Given the description of an element on the screen output the (x, y) to click on. 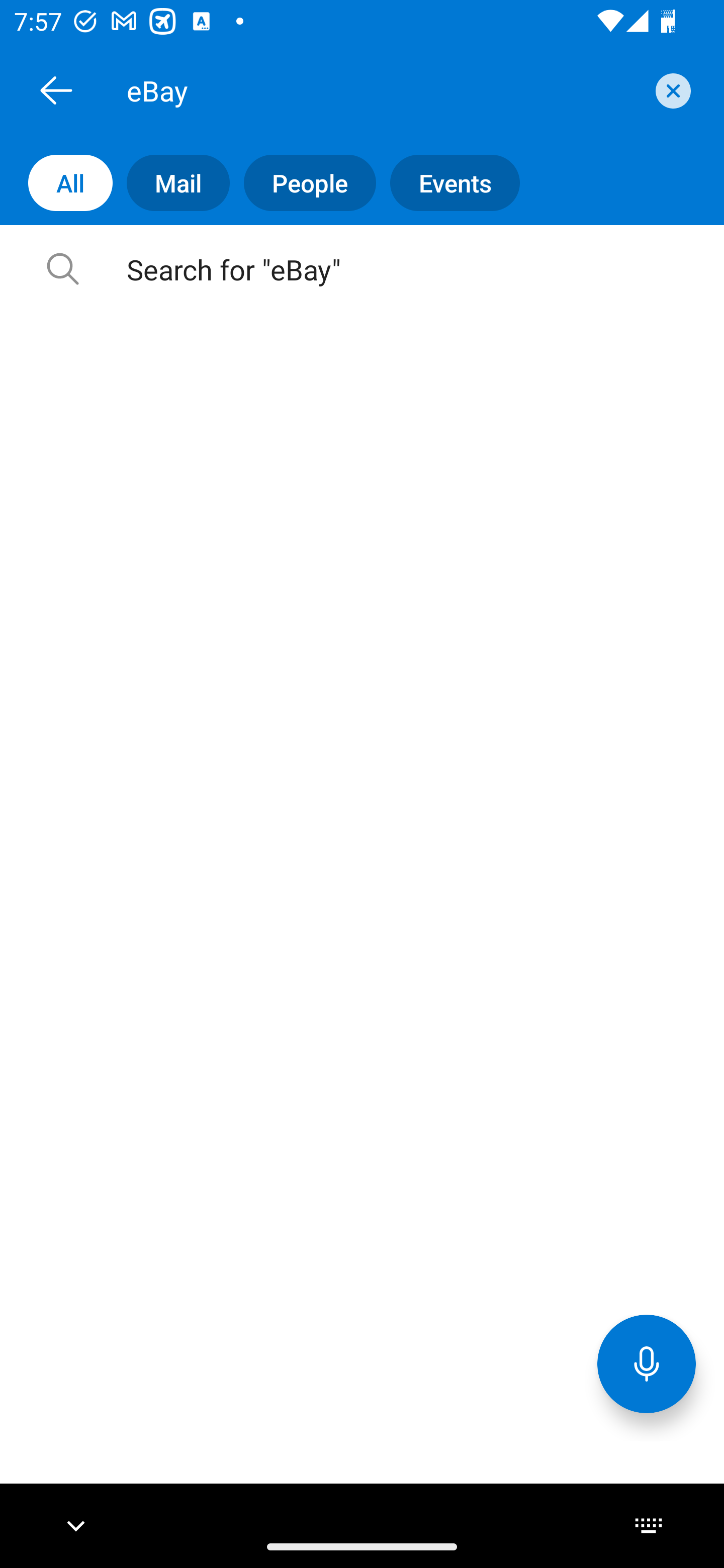
Back (55, 89)
eBay (384, 89)
clear search (670, 90)
Mail (170, 183)
People (302, 183)
Events (447, 183)
Voice Assistant (646, 1362)
